Given the description of an element on the screen output the (x, y) to click on. 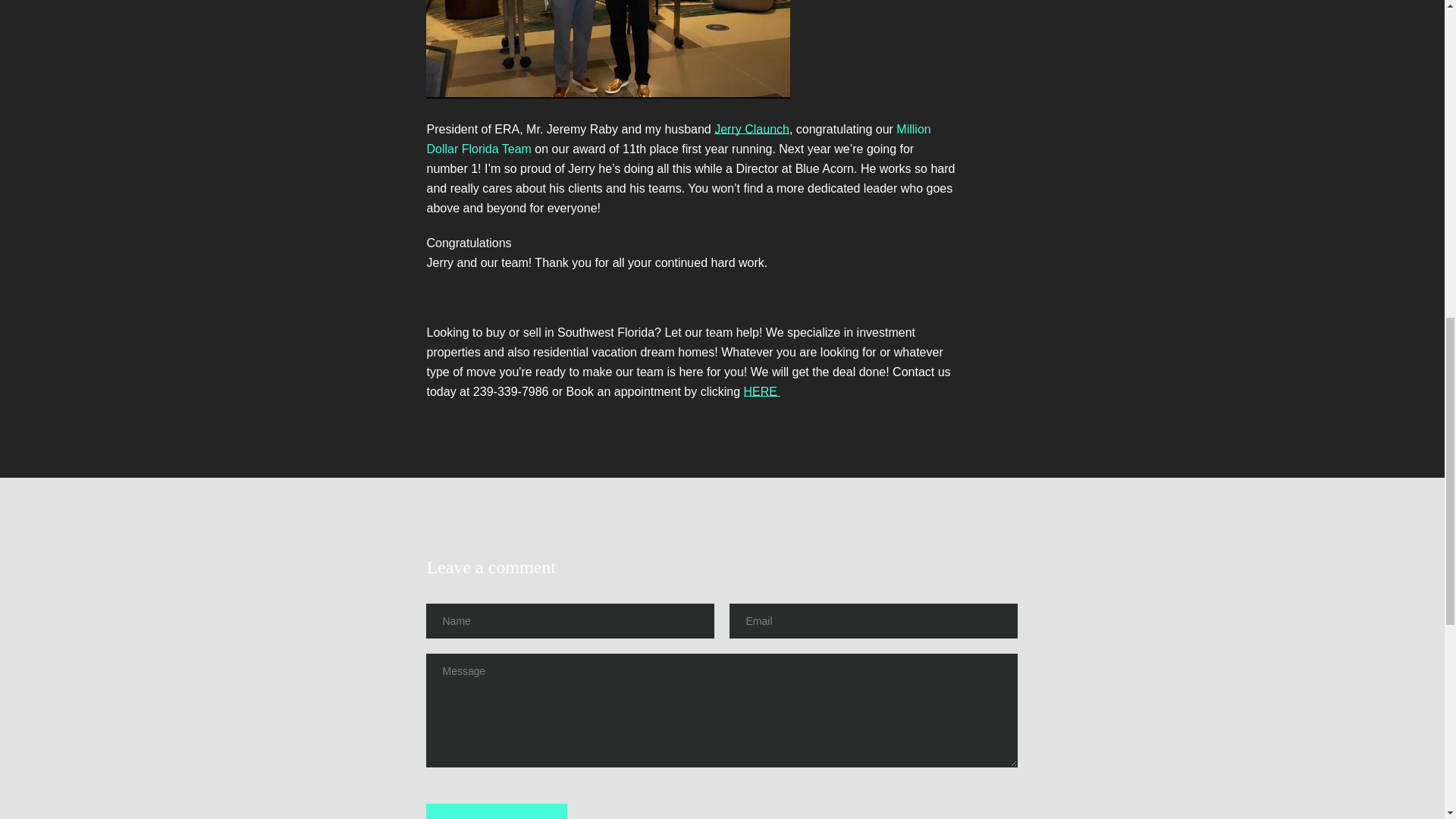
Jerry Claunch (751, 128)
HERE  (762, 391)
Post comment (496, 811)
Post comment (496, 811)
Million Dollar Florida Team (678, 138)
